Given the description of an element on the screen output the (x, y) to click on. 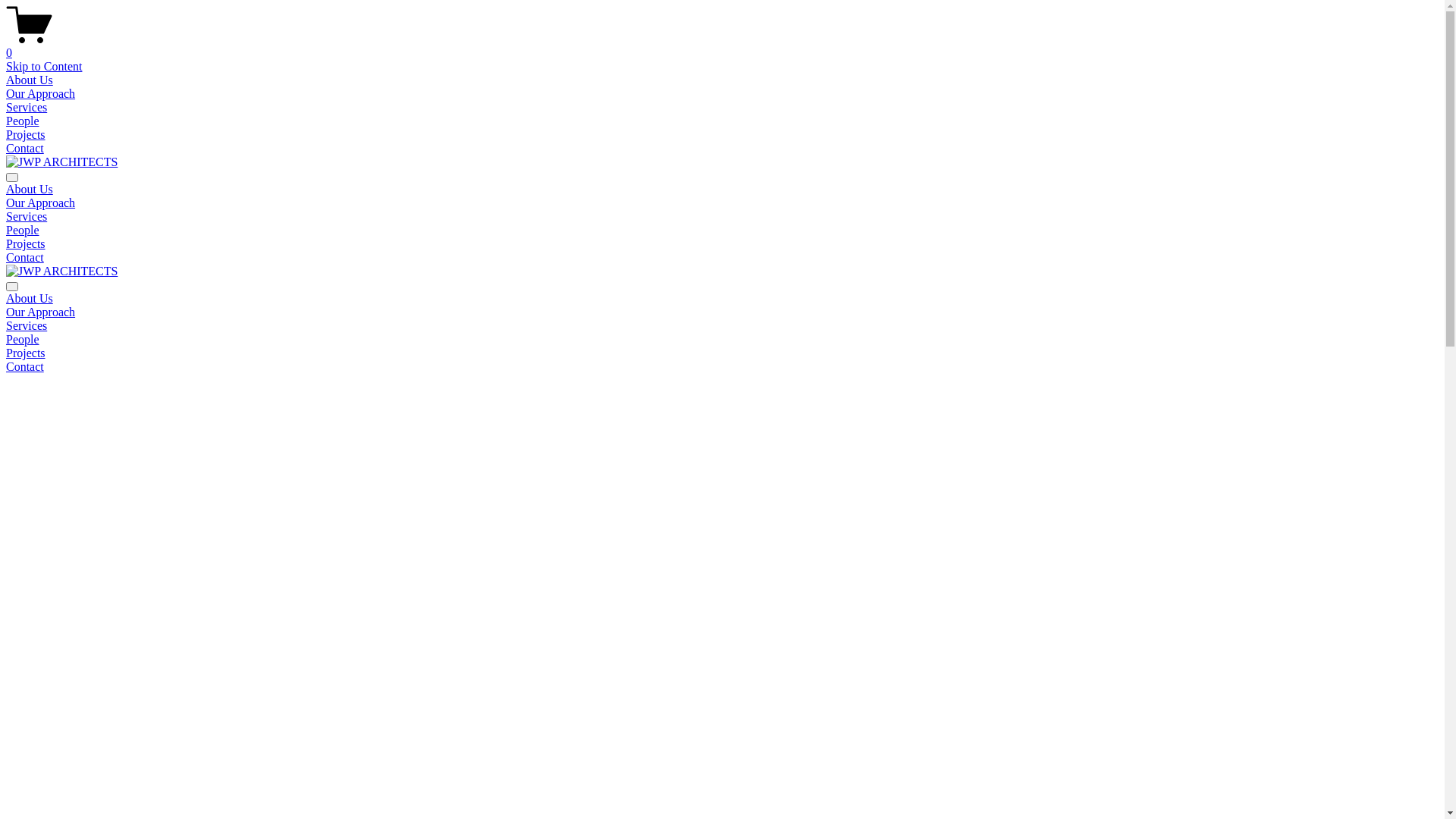
Services Element type: text (26, 106)
Projects Element type: text (25, 243)
Services Element type: text (722, 325)
Skip to Content Element type: text (43, 65)
People Element type: text (722, 339)
About Us Element type: text (722, 298)
People Element type: text (22, 229)
Services Element type: text (26, 216)
Contact Element type: text (24, 147)
Contact Element type: text (24, 257)
Our Approach Element type: text (40, 311)
Projects Element type: text (25, 134)
Projects Element type: text (722, 353)
Our Approach Element type: text (40, 93)
About Us Element type: text (29, 79)
0 Element type: text (722, 45)
About Us Element type: text (29, 188)
People Element type: text (22, 120)
Our Approach Element type: text (40, 202)
Contact Element type: text (722, 366)
